Given the description of an element on the screen output the (x, y) to click on. 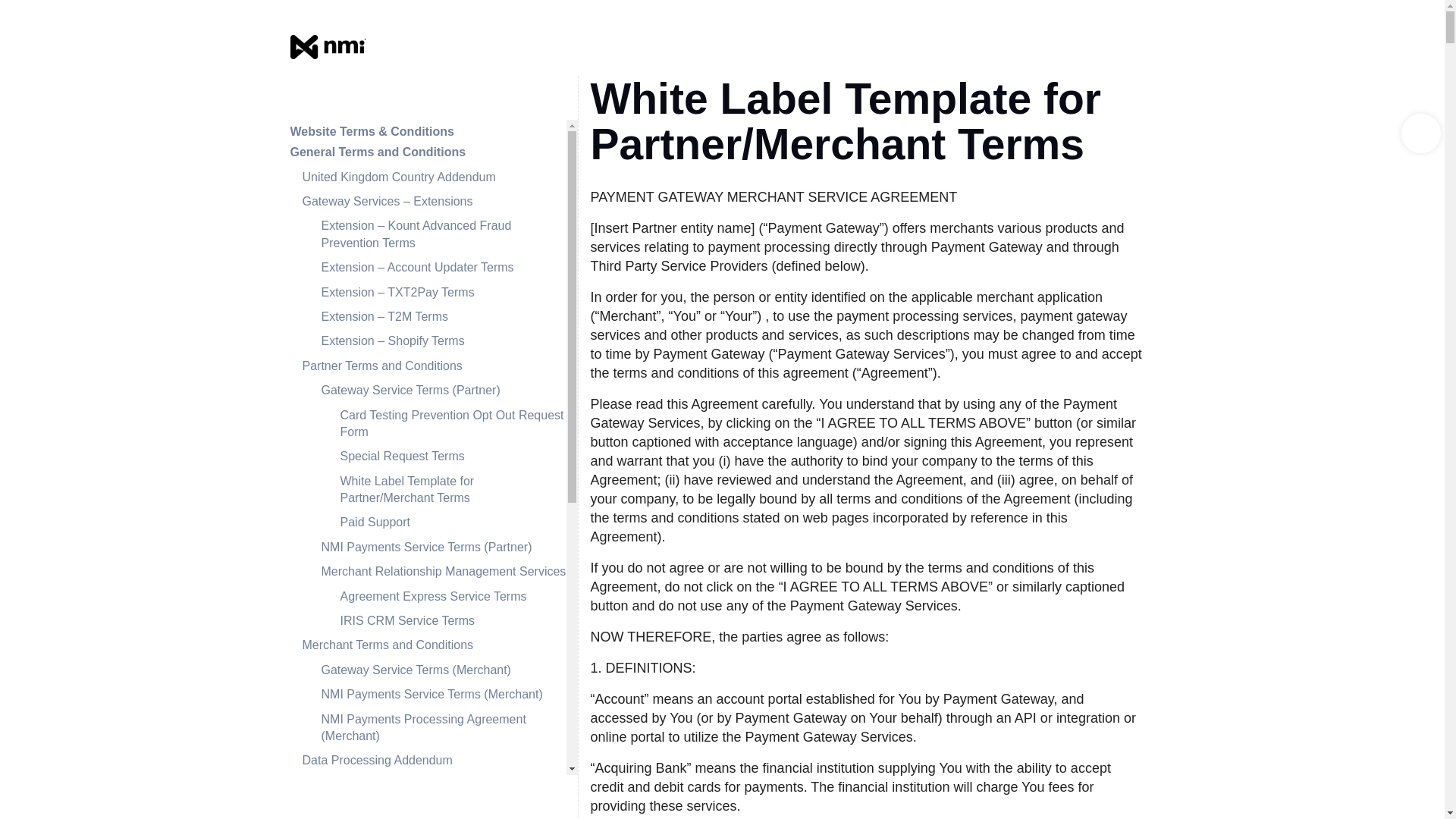
Open toolbar (1420, 133)
Accessibility Tools (1420, 133)
